Given the description of an element on the screen output the (x, y) to click on. 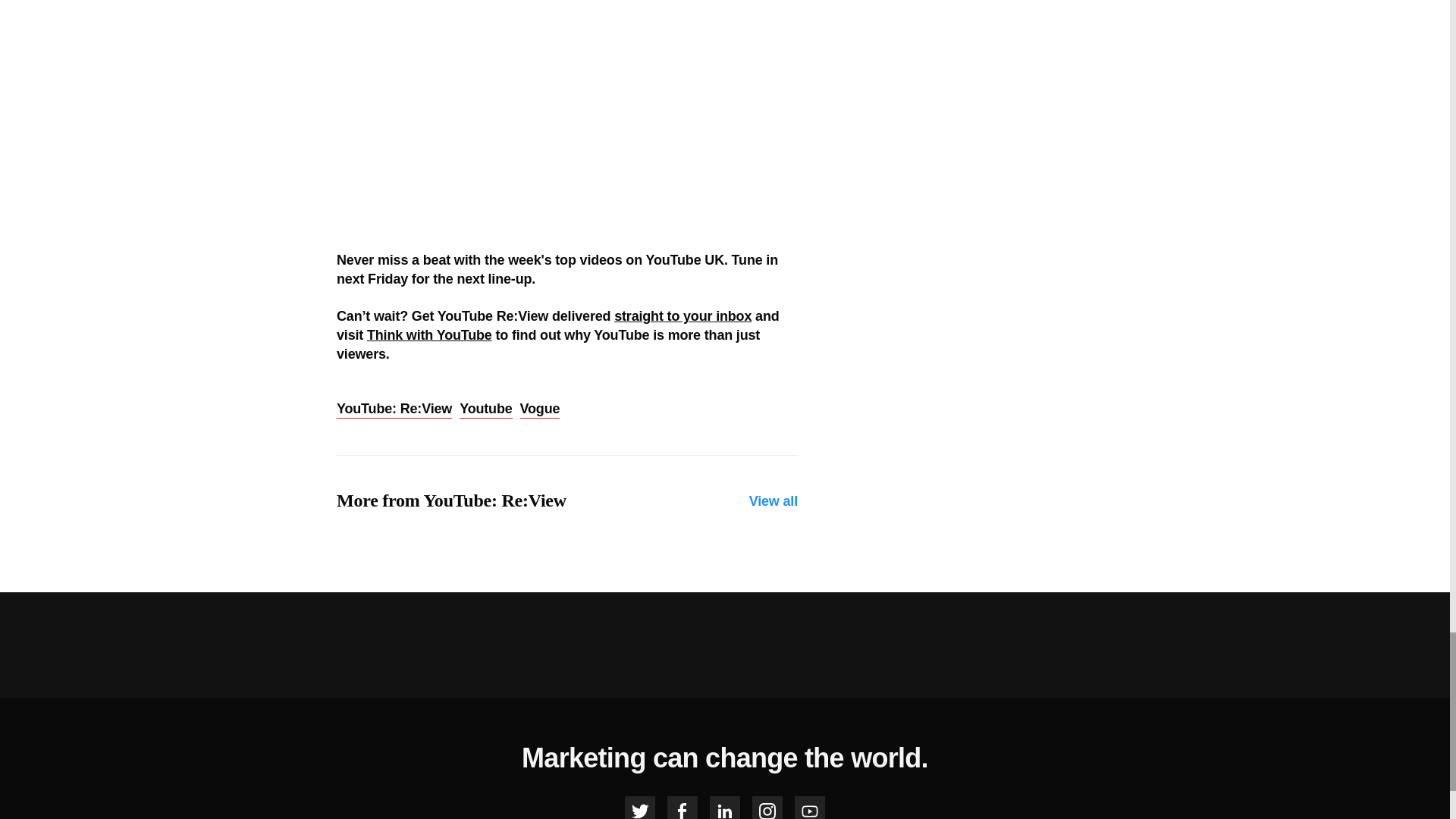
Vogue (539, 409)
straight to your inbox (682, 315)
Think with YouTube (429, 335)
YouTube: Re:View (393, 409)
View all (773, 501)
Youtube (486, 409)
